Given the description of an element on the screen output the (x, y) to click on. 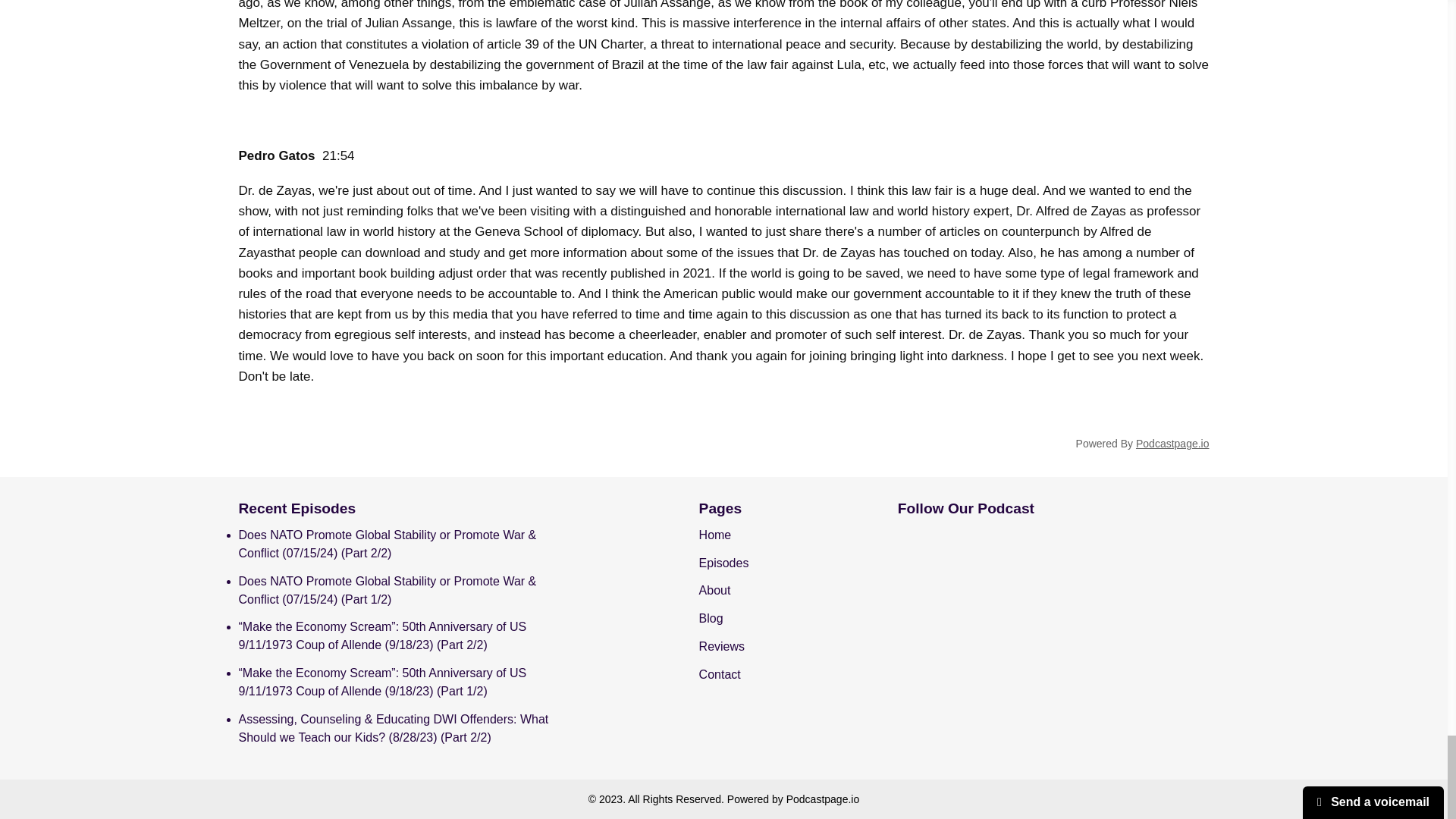
Google Podcasts (959, 589)
Castro (1052, 553)
Home (715, 534)
Reviews (721, 645)
Player FM (959, 612)
Episodes (723, 562)
Overcast (1099, 571)
RSS (1052, 594)
About (714, 590)
Goodpods (1145, 571)
